Given the description of an element on the screen output the (x, y) to click on. 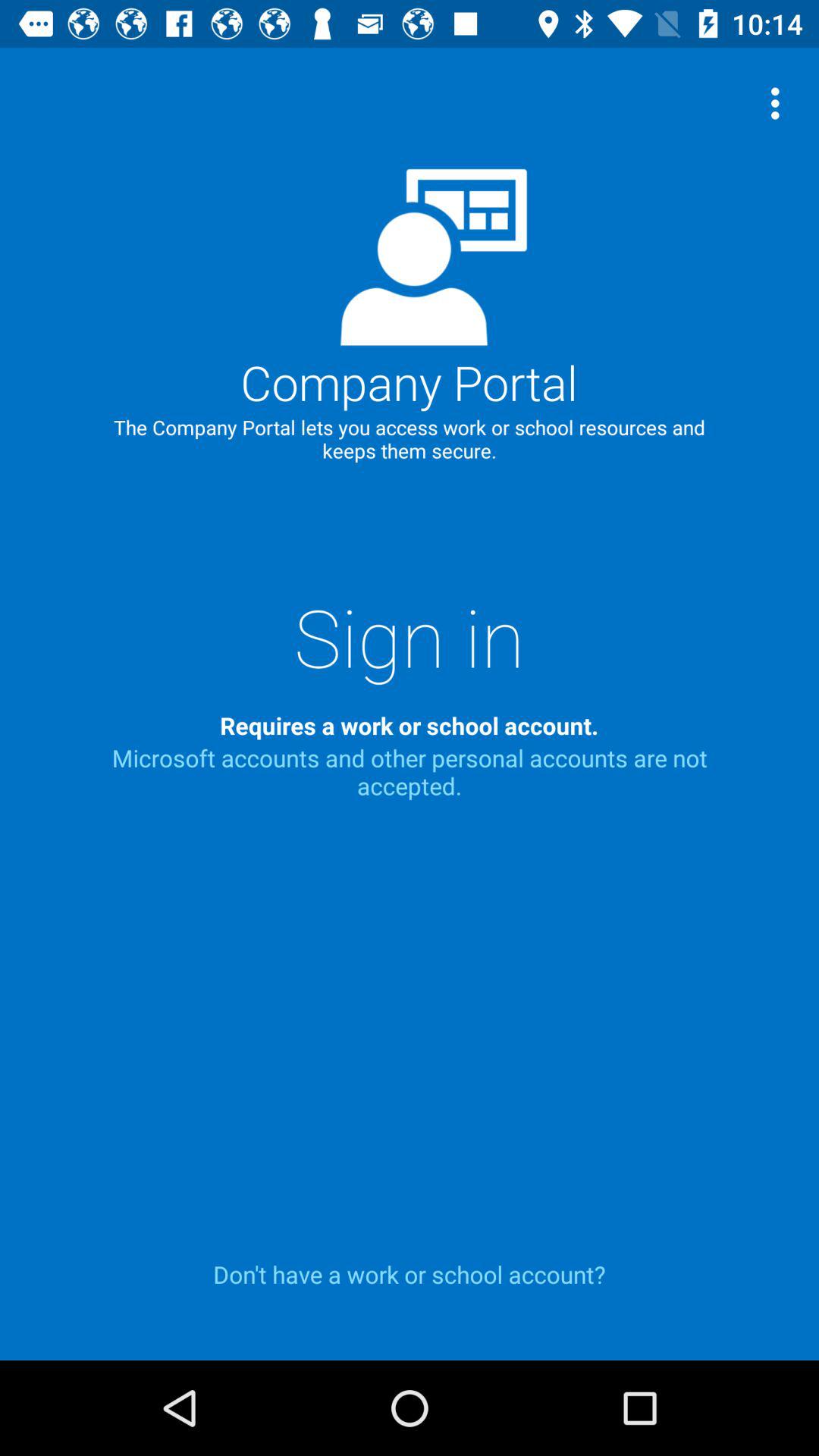
click item at the top right corner (779, 103)
